Given the description of an element on the screen output the (x, y) to click on. 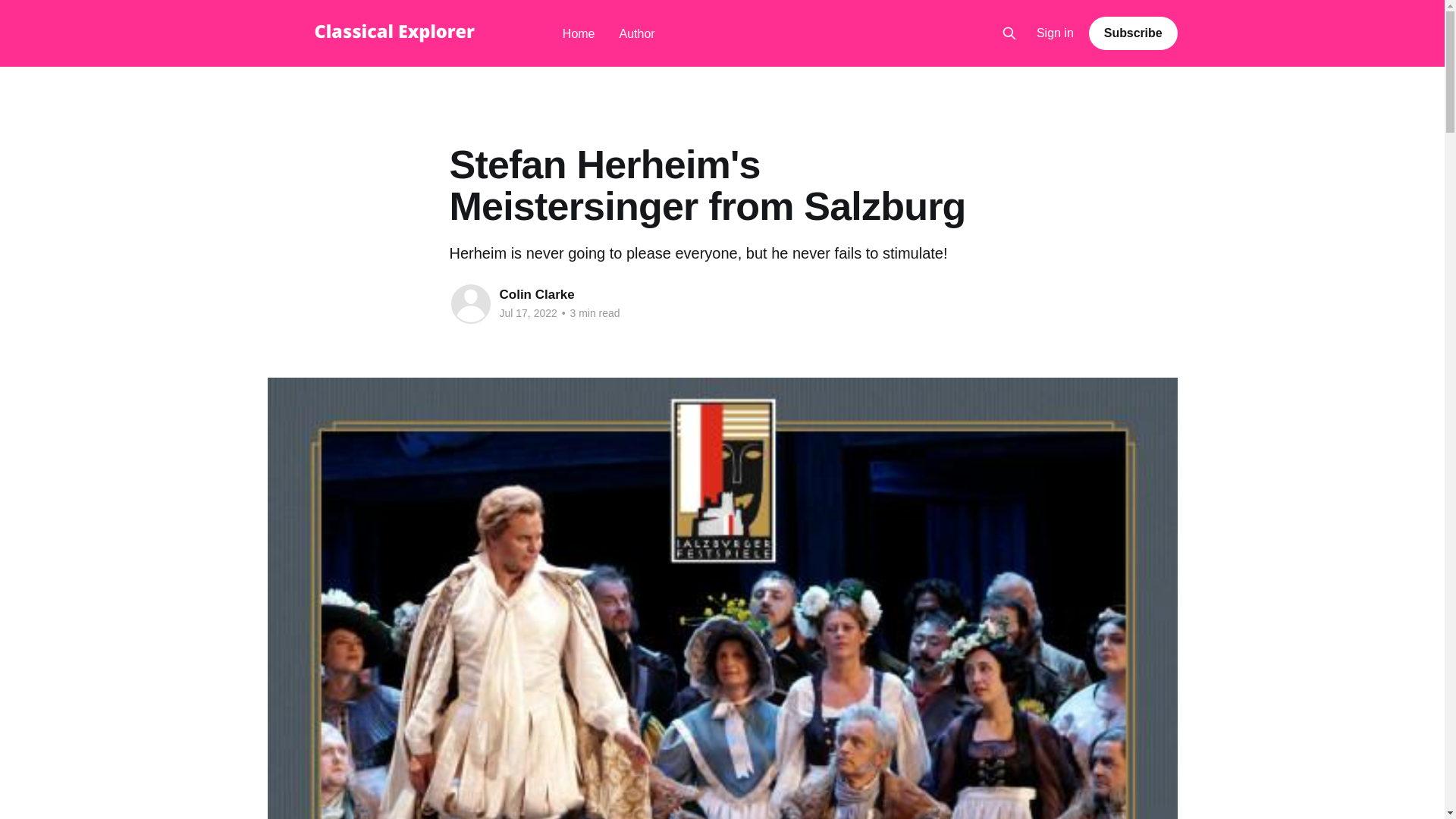
Subscribe (1133, 32)
Home (578, 33)
Sign in (1055, 33)
Colin Clarke (536, 294)
Author (637, 33)
